Given the description of an element on the screen output the (x, y) to click on. 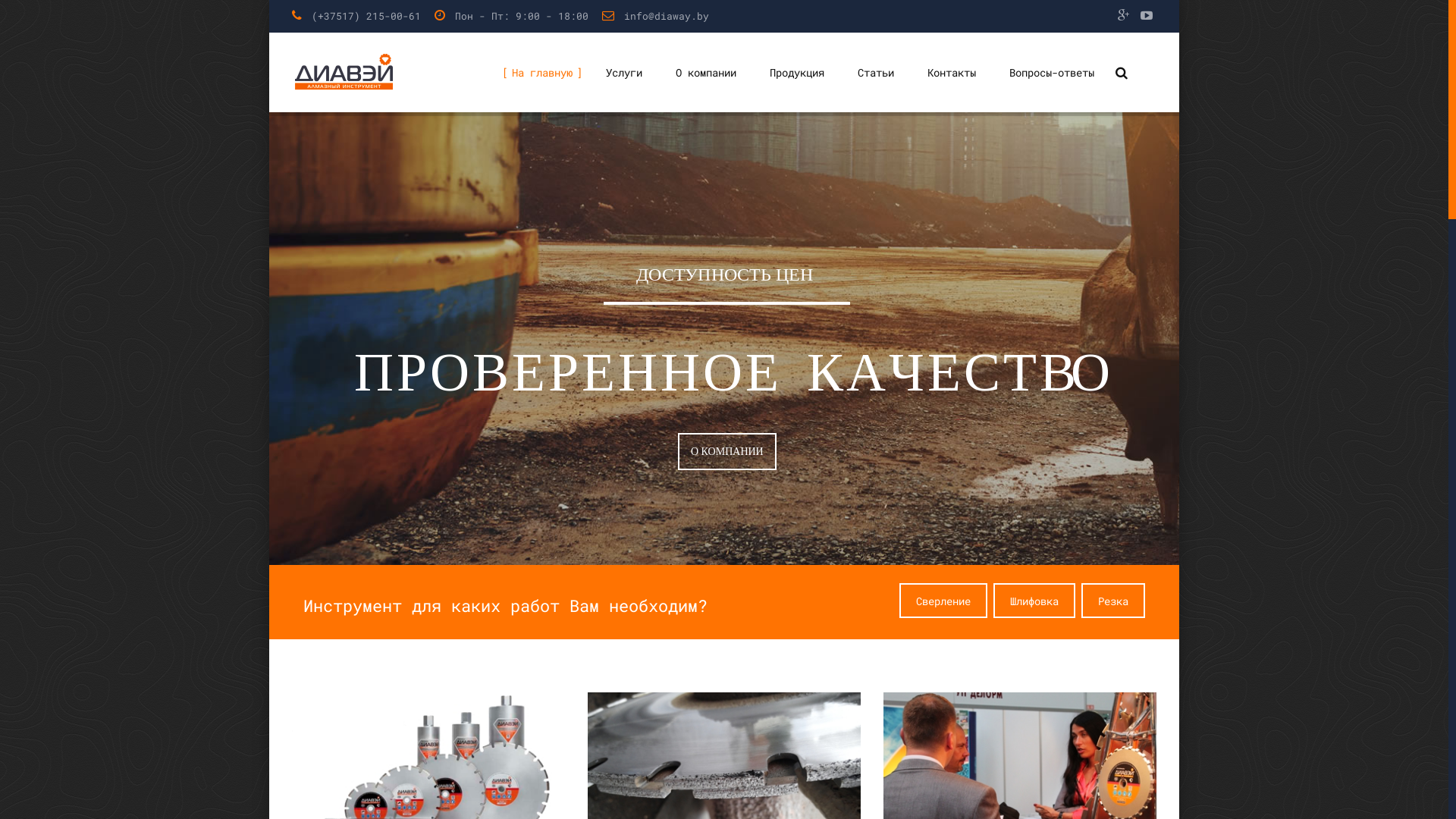
Gplus Element type: text (1123, 15)
Youtube Element type: text (1146, 15)
Gplus Element type: text (527, 712)
Youtube Element type: text (553, 712)
